Given the description of an element on the screen output the (x, y) to click on. 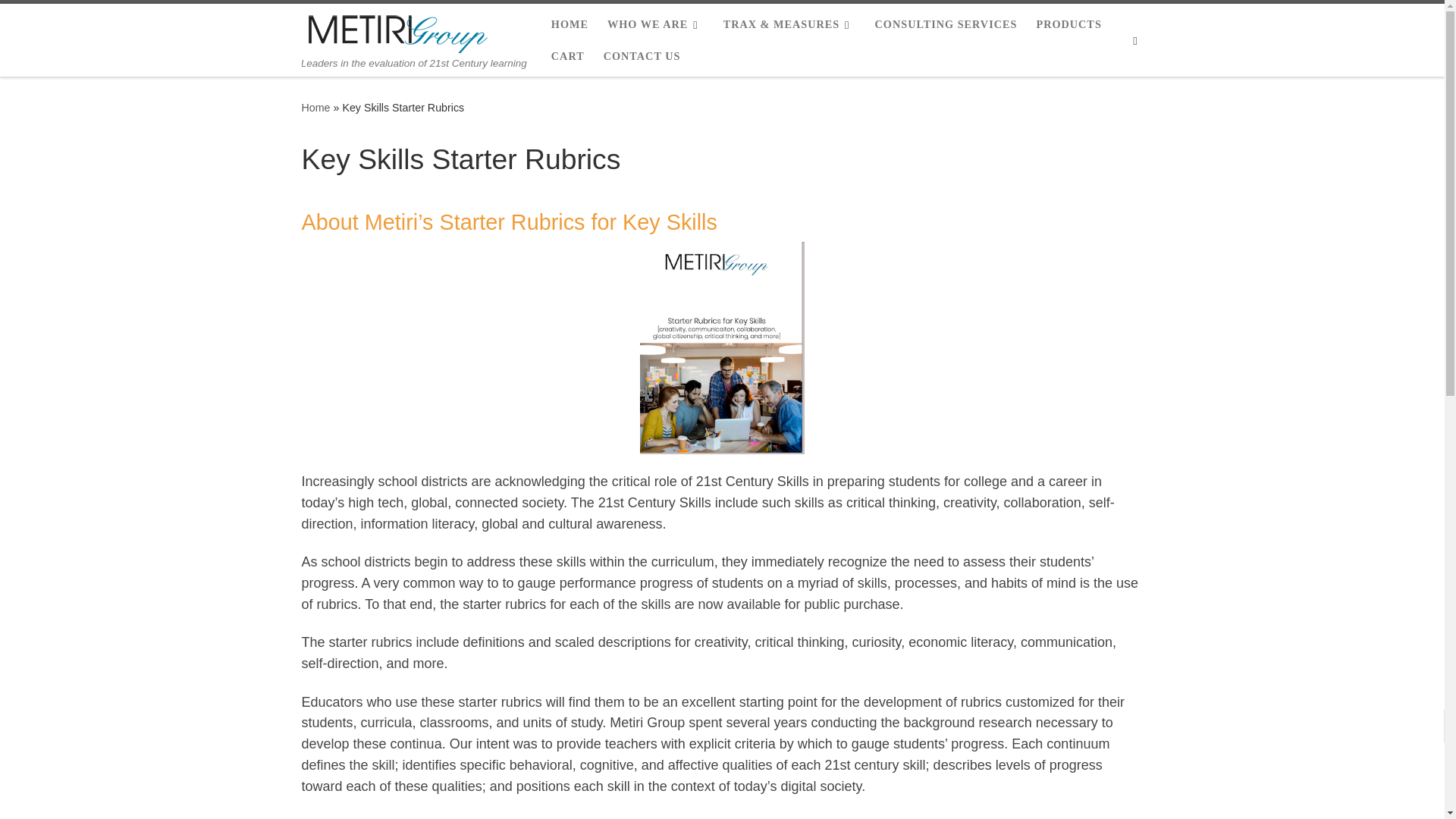
HOME (570, 24)
WHO WE ARE (655, 24)
PRODUCTS (1068, 24)
CONTACT US (641, 56)
Skip to content (60, 20)
CART (568, 56)
CONSULTING SERVICES (945, 24)
